Given the description of an element on the screen output the (x, y) to click on. 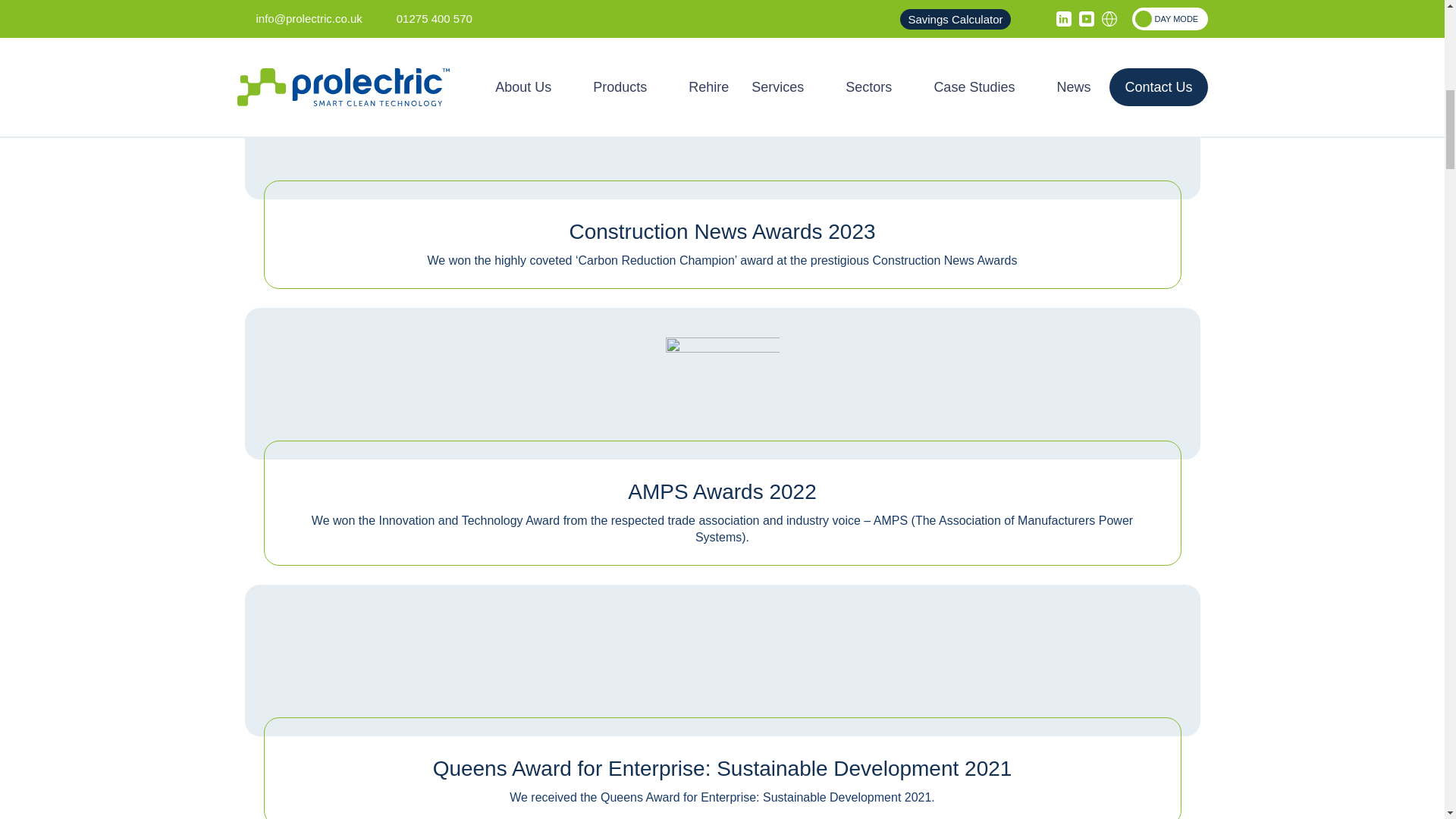
Queens Award for Enterprise: Sustainable Development 2021 (721, 650)
Construction News Awards 2023 (721, 113)
AMPS Awards 2022 (721, 374)
